Given the description of an element on the screen output the (x, y) to click on. 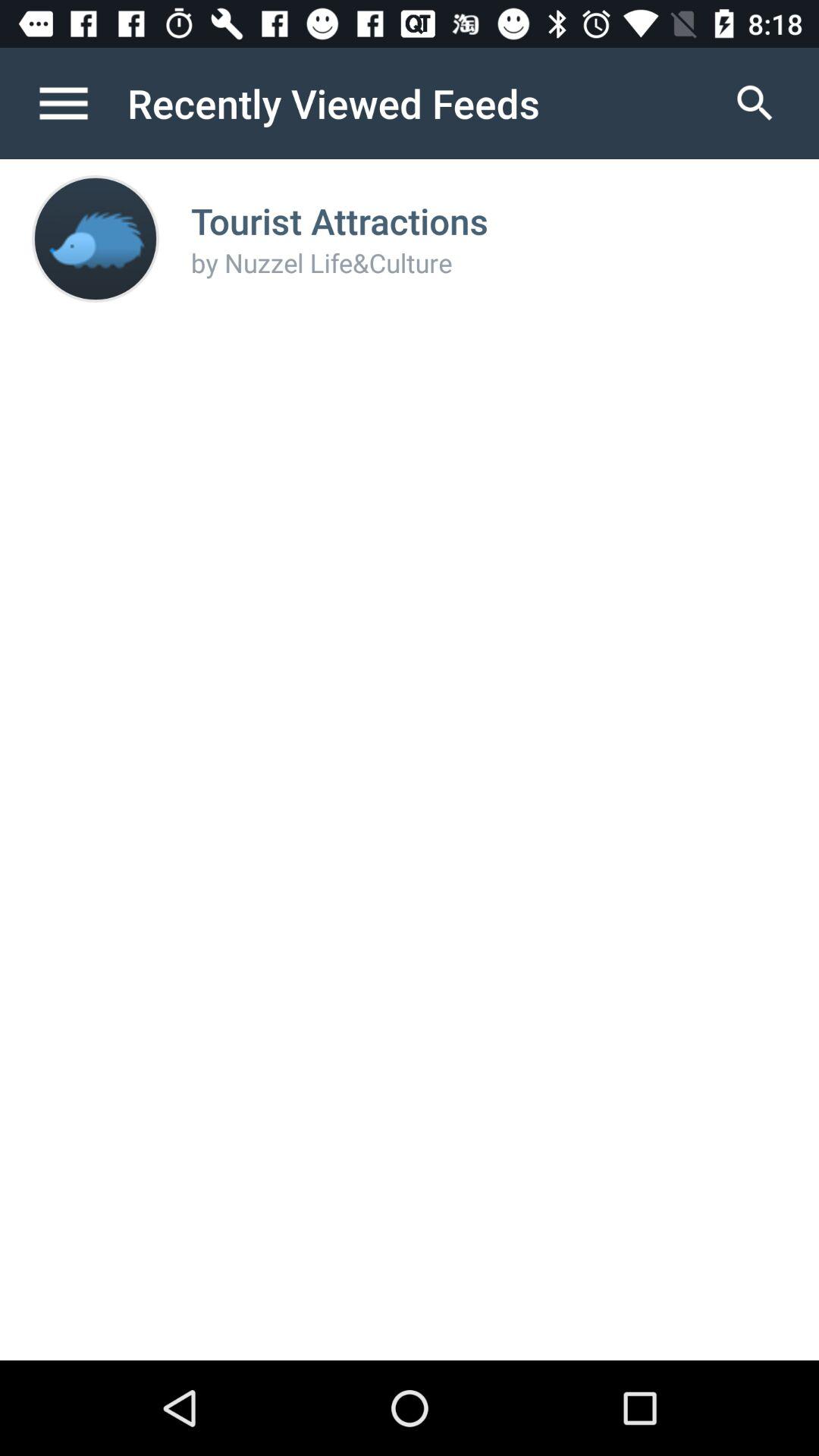
turn off icon to the right of the recently viewed feeds (755, 103)
